Given the description of an element on the screen output the (x, y) to click on. 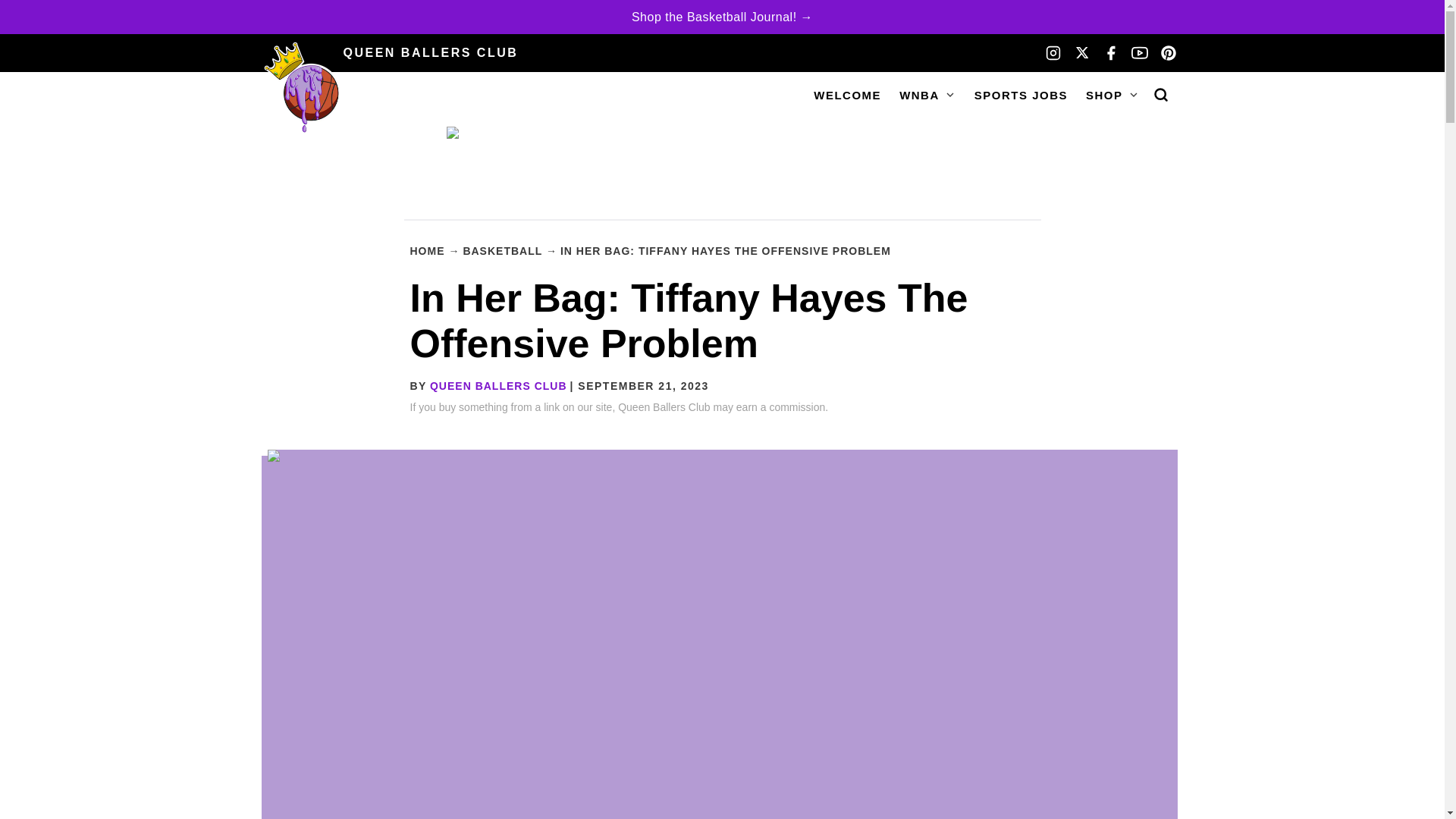
WELCOME (847, 93)
SPORTS JOBS (1021, 93)
